Given the description of an element on the screen output the (x, y) to click on. 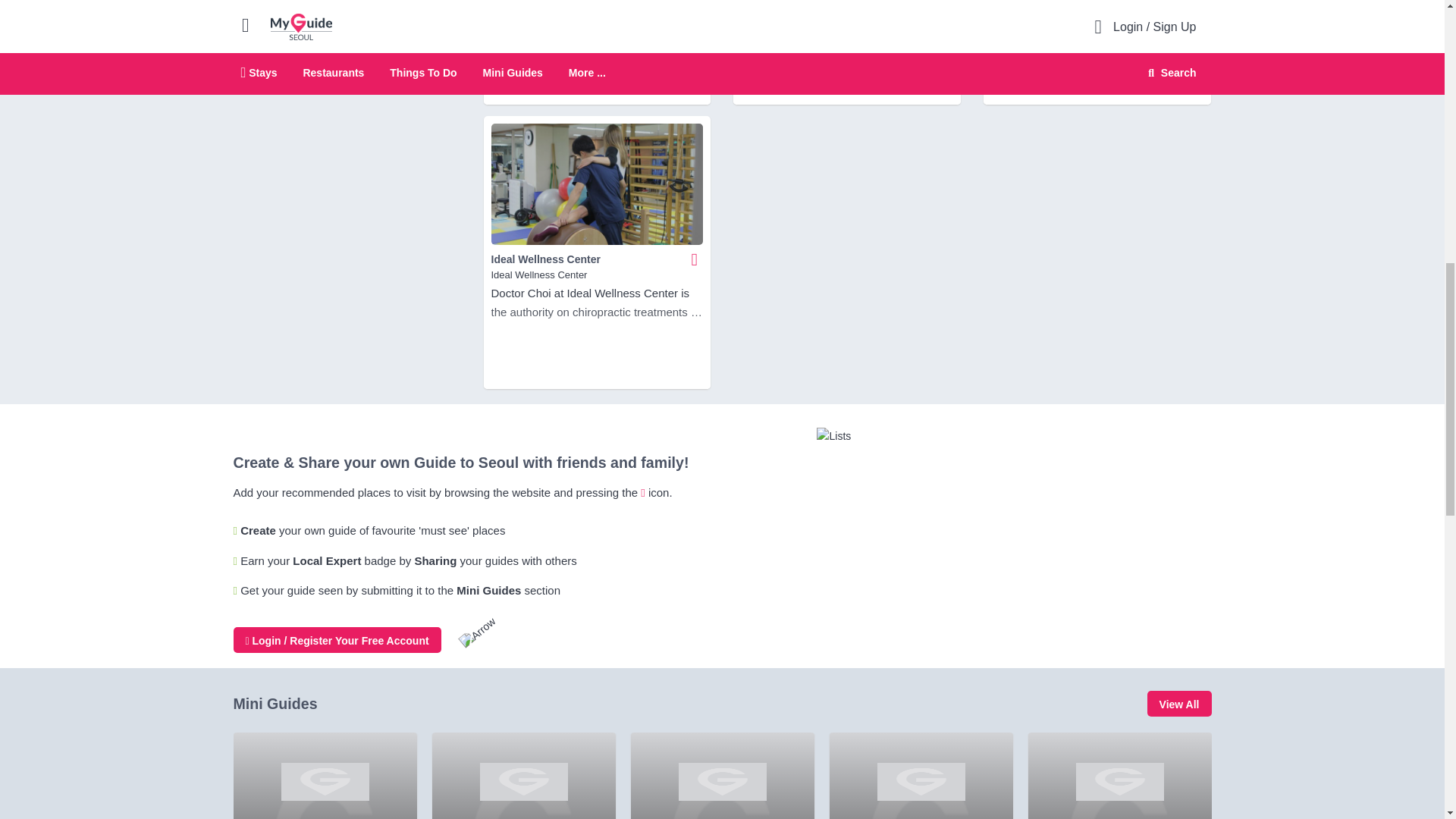
Foreigner Friendly (324, 775)
Must do foreign restaurants (721, 775)
5 Best big shopping venues (523, 775)
Weird and Wonderful places to eat (921, 775)
